Given the description of an element on the screen output the (x, y) to click on. 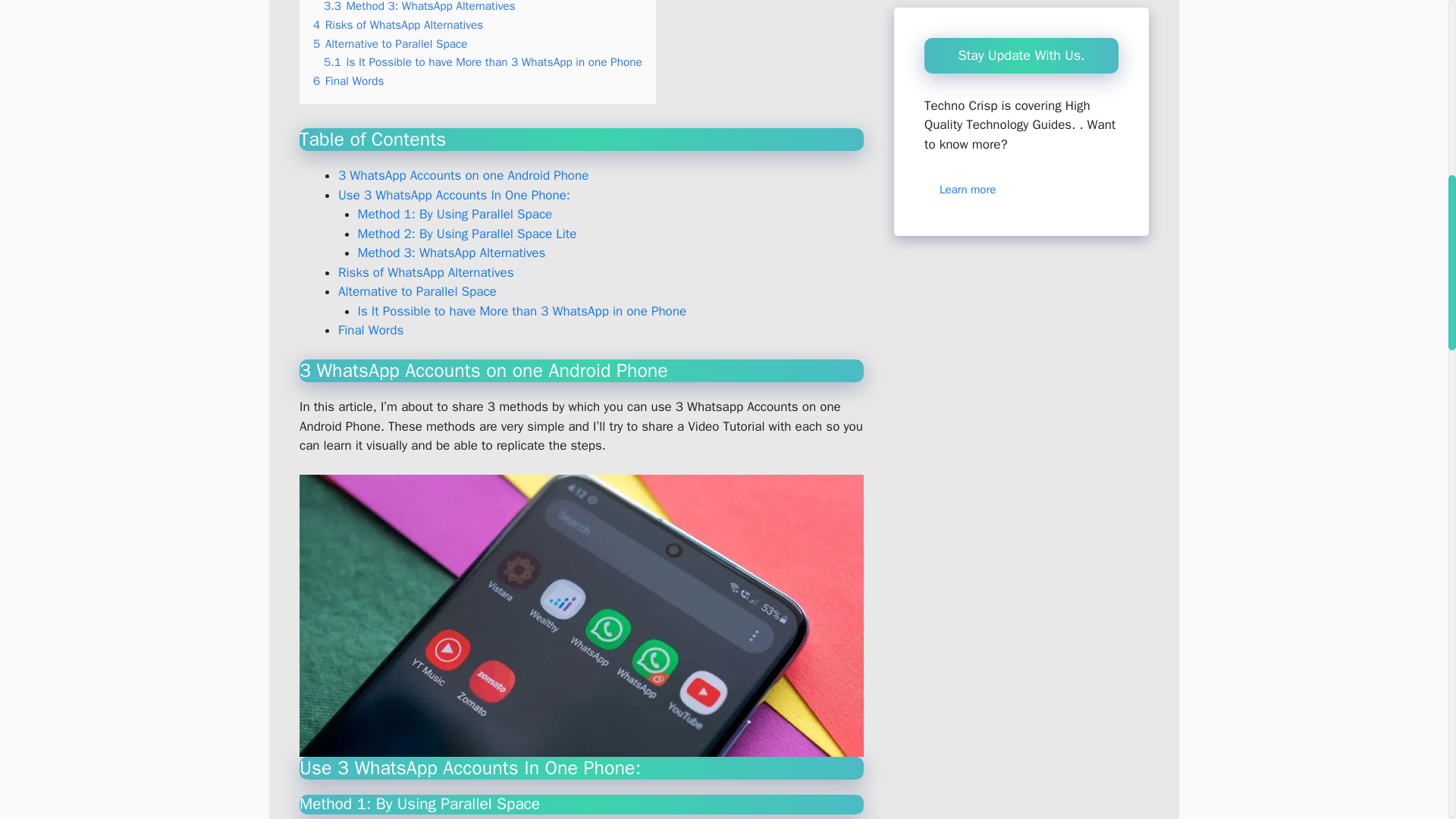
Is It Possible to have More than 3 WhatsApp in one Phone (522, 311)
Method 2: By Using Parallel Space Lite (467, 233)
Final Words (370, 330)
6 Final Words (348, 80)
3.3 Method 3: WhatsApp Alternatives (419, 6)
Alternative to Parallel Space (416, 291)
3 WhatsApp Accounts on one Android Phone (462, 175)
Risks of WhatsApp Alternatives (425, 272)
Method 3: WhatsApp Alternatives (452, 252)
4 Risks of WhatsApp Alternatives (398, 24)
